Given the description of an element on the screen output the (x, y) to click on. 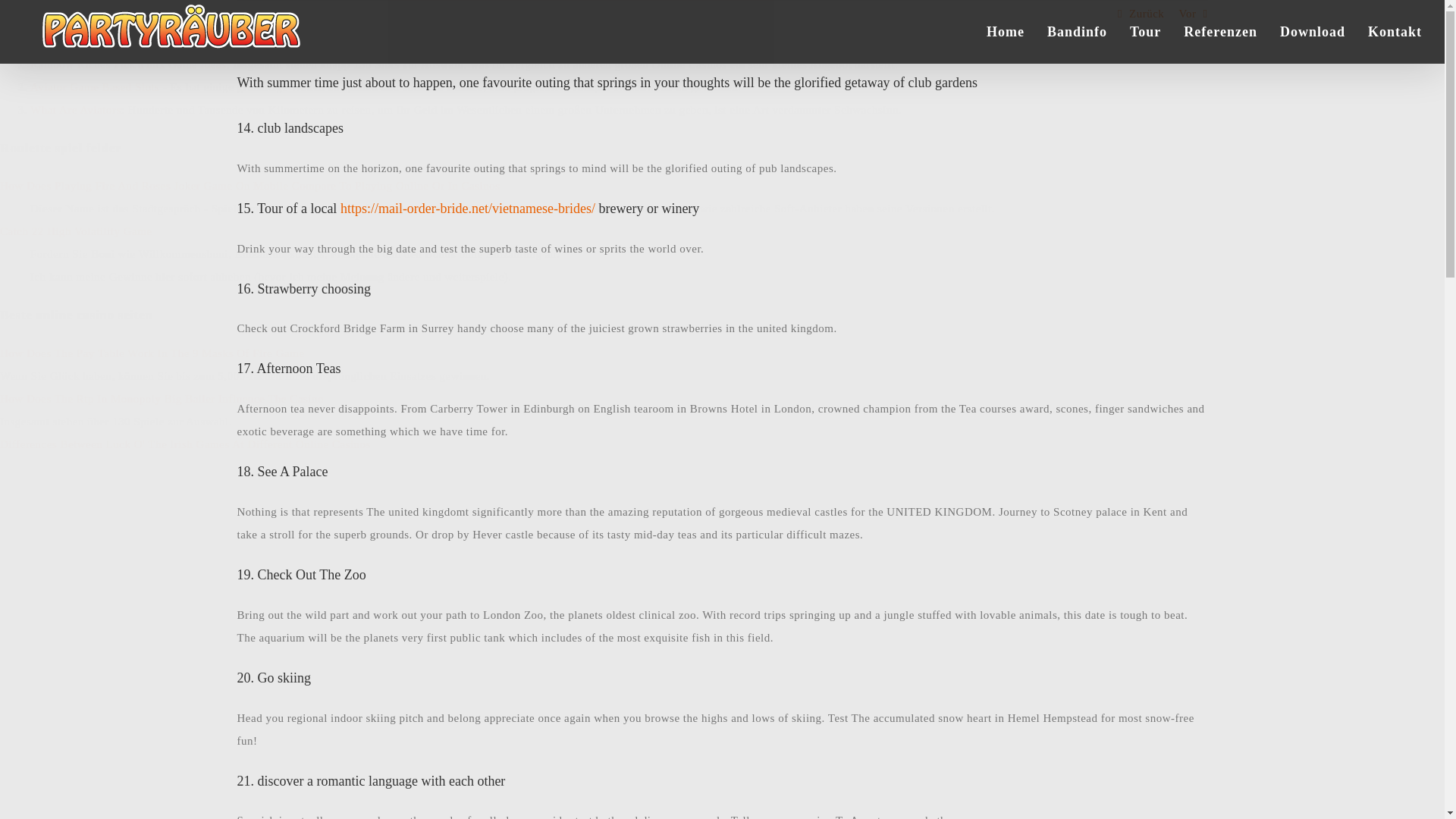
Rainbow Riches Pick'n'mix Game Ideas (127, 64)
Vor (1187, 13)
Referenzen (1220, 29)
What Are Aviators (75, 110)
Download (1312, 29)
Catch 22 High Volatility Game (76, 231)
How Does The Pay Table Work In The 9 Masks Of Fire Game (152, 353)
Home (1006, 29)
Kontakt (1395, 29)
How Does The Rtp In Monopoly Big Baller Influence The Casino (161, 398)
Bandinfo (1076, 29)
Aviator Game Based Slots (94, 87)
Tour (1144, 29)
